Given the description of an element on the screen output the (x, y) to click on. 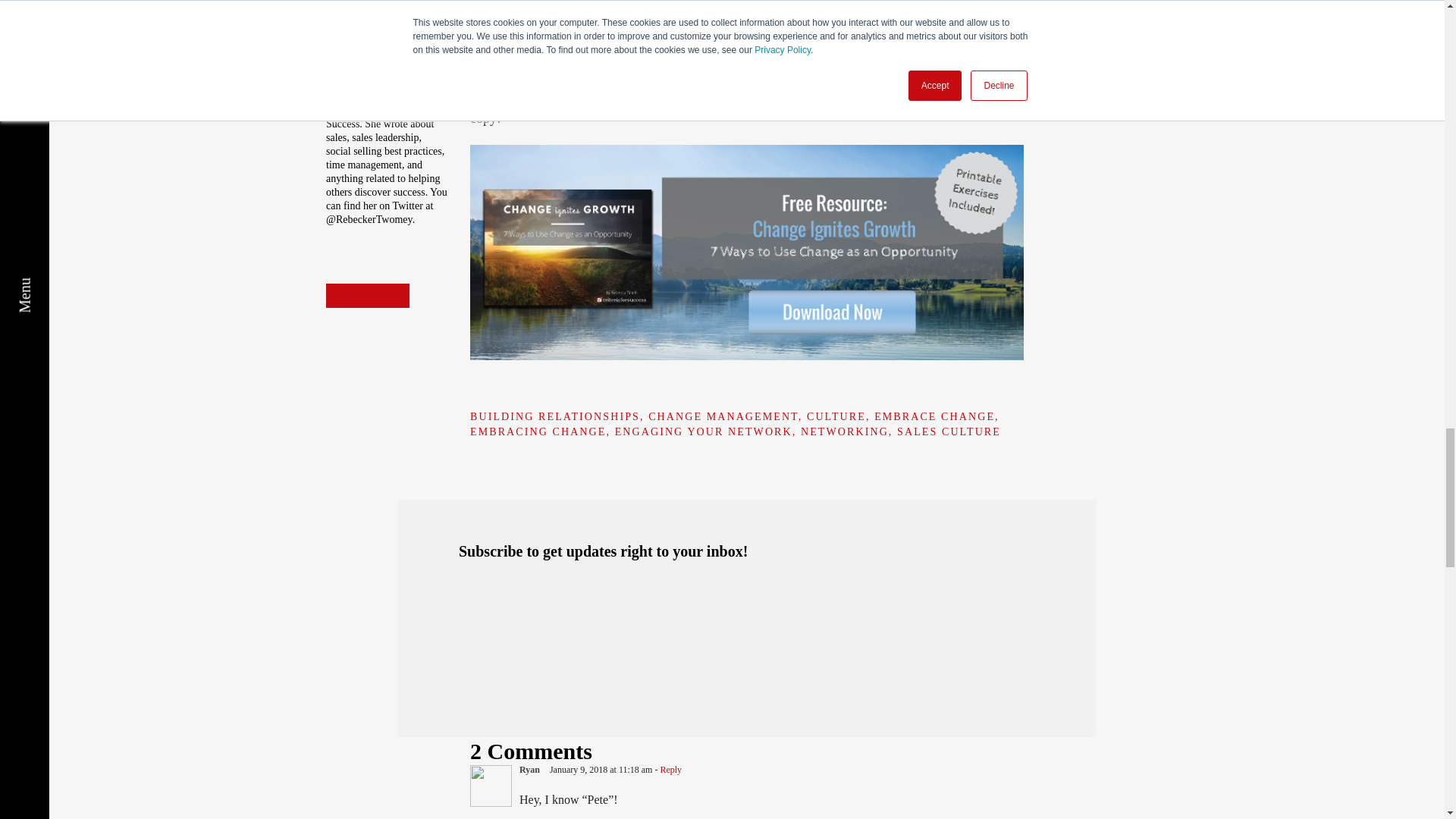
Form 0 (746, 636)
January 9, 2018 at 11:18 am (602, 769)
